Given the description of an element on the screen output the (x, y) to click on. 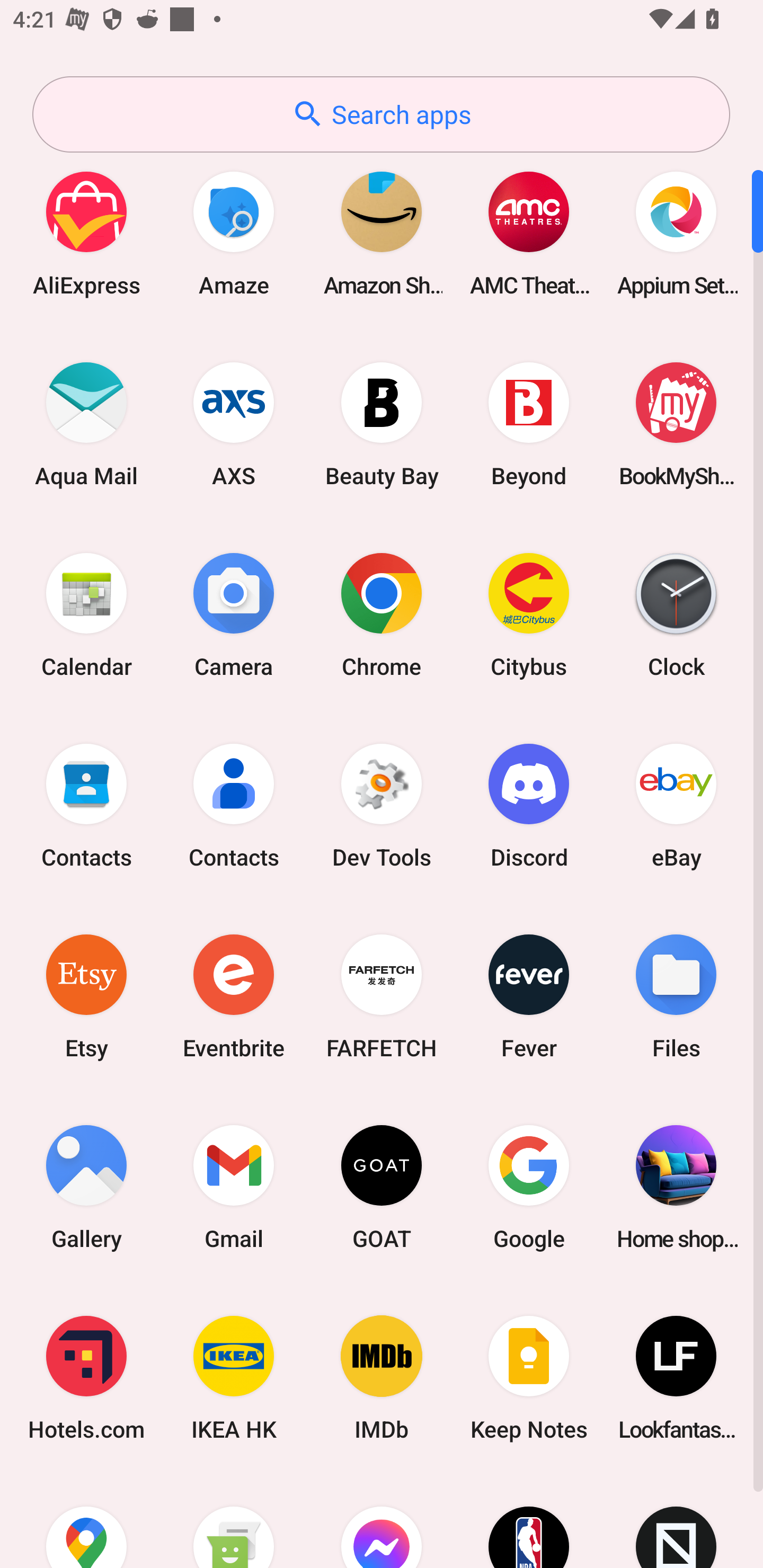
  Search apps (381, 114)
AliExpress (86, 233)
Amaze (233, 233)
Amazon Shopping (381, 233)
AMC Theatres (528, 233)
Appium Settings (676, 233)
Aqua Mail (86, 424)
AXS (233, 424)
Beauty Bay (381, 424)
Beyond (528, 424)
BookMyShow (676, 424)
Calendar (86, 614)
Camera (233, 614)
Chrome (381, 614)
Citybus (528, 614)
Clock (676, 614)
Contacts (86, 805)
Contacts (233, 805)
Dev Tools (381, 805)
Discord (528, 805)
eBay (676, 805)
Etsy (86, 996)
Eventbrite (233, 996)
FARFETCH (381, 996)
Fever (528, 996)
Files (676, 996)
Gallery (86, 1186)
Gmail (233, 1186)
GOAT (381, 1186)
Google (528, 1186)
Home shopping (676, 1186)
Hotels.com (86, 1377)
IKEA HK (233, 1377)
IMDb (381, 1377)
Keep Notes (528, 1377)
Lookfantastic (676, 1377)
